Given the description of an element on the screen output the (x, y) to click on. 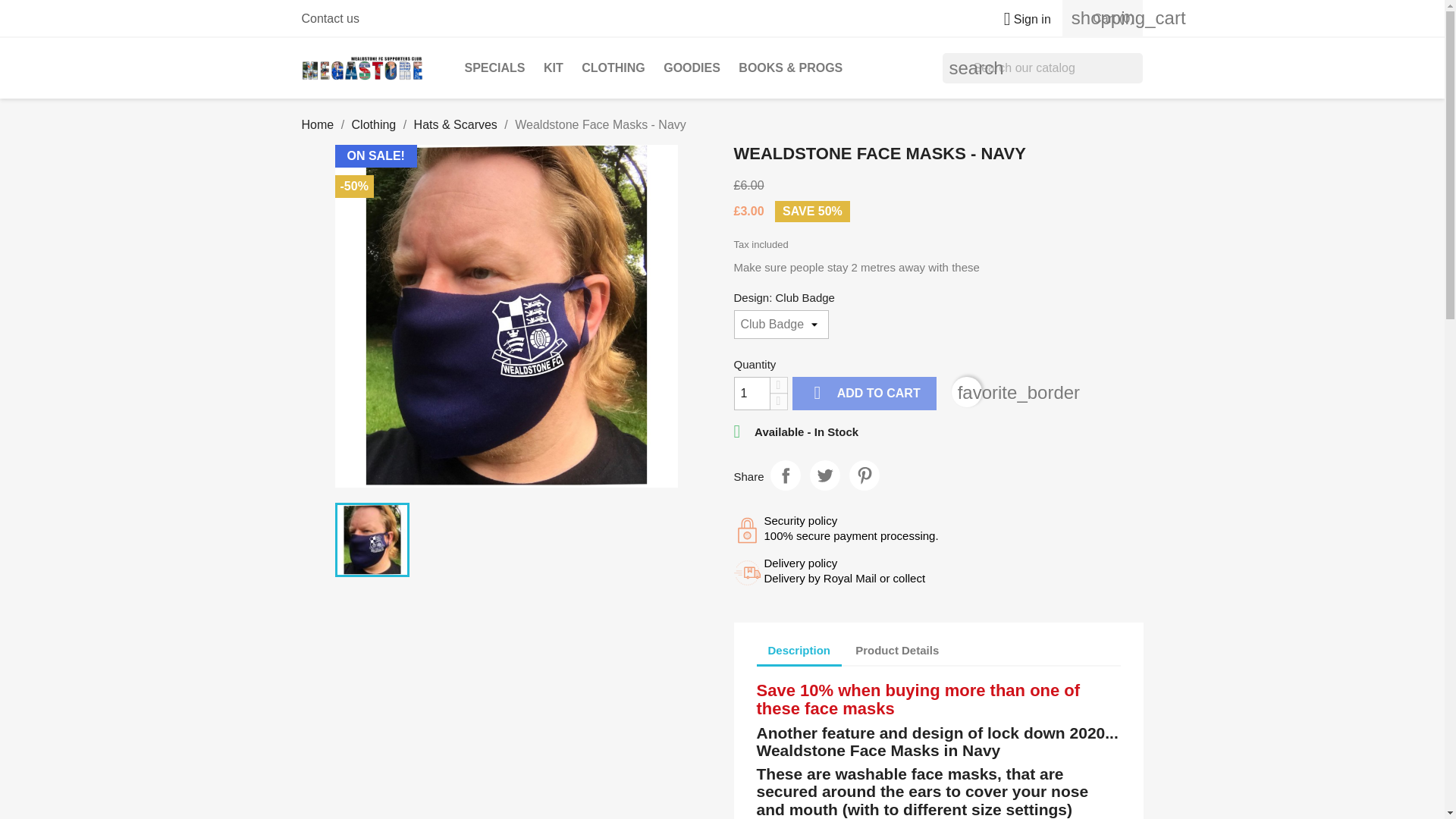
CLOTHING (612, 68)
GOODIES (692, 68)
Share (785, 475)
Tweet (824, 475)
Contact us (330, 18)
SPECIALS (494, 68)
KIT (552, 68)
Pinterest (863, 475)
Log in to your customer account (1020, 19)
1 (751, 393)
Wealdstone Face Masks - Navy (371, 539)
Wealdstone Face Masks - Navy (506, 315)
